Given the description of an element on the screen output the (x, y) to click on. 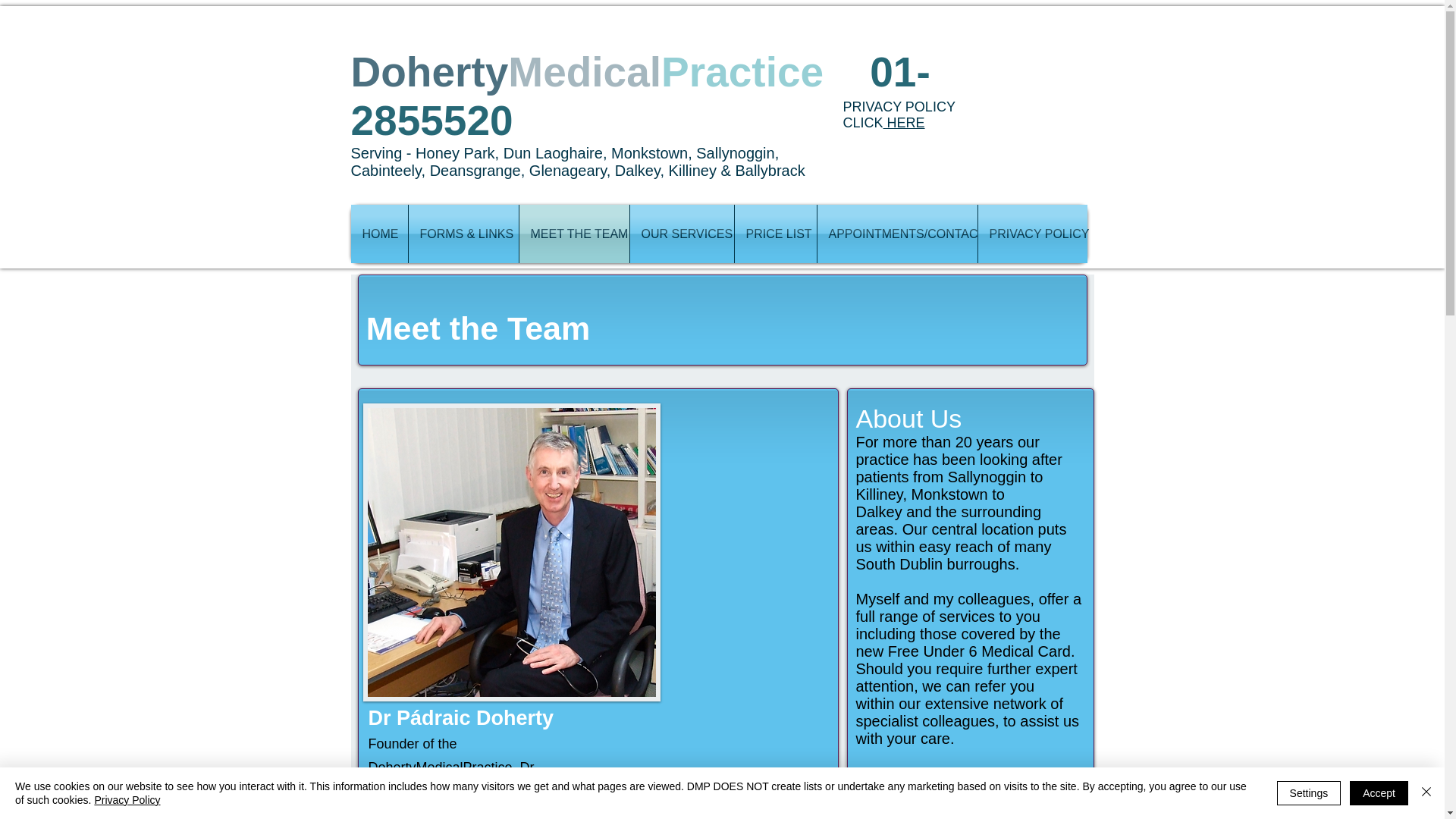
HOME (378, 233)
Screen Shot 2015-12-18 at 2.16.34 p.m..png (510, 552)
Accept (1378, 793)
Privacy Policy (127, 799)
HERE (903, 122)
Settings (1308, 793)
OUR SERVICES (680, 233)
MEET THE TEAM (573, 233)
PRICE LIST (774, 233)
PRIVACY POLICY (1032, 233)
